Given the description of an element on the screen output the (x, y) to click on. 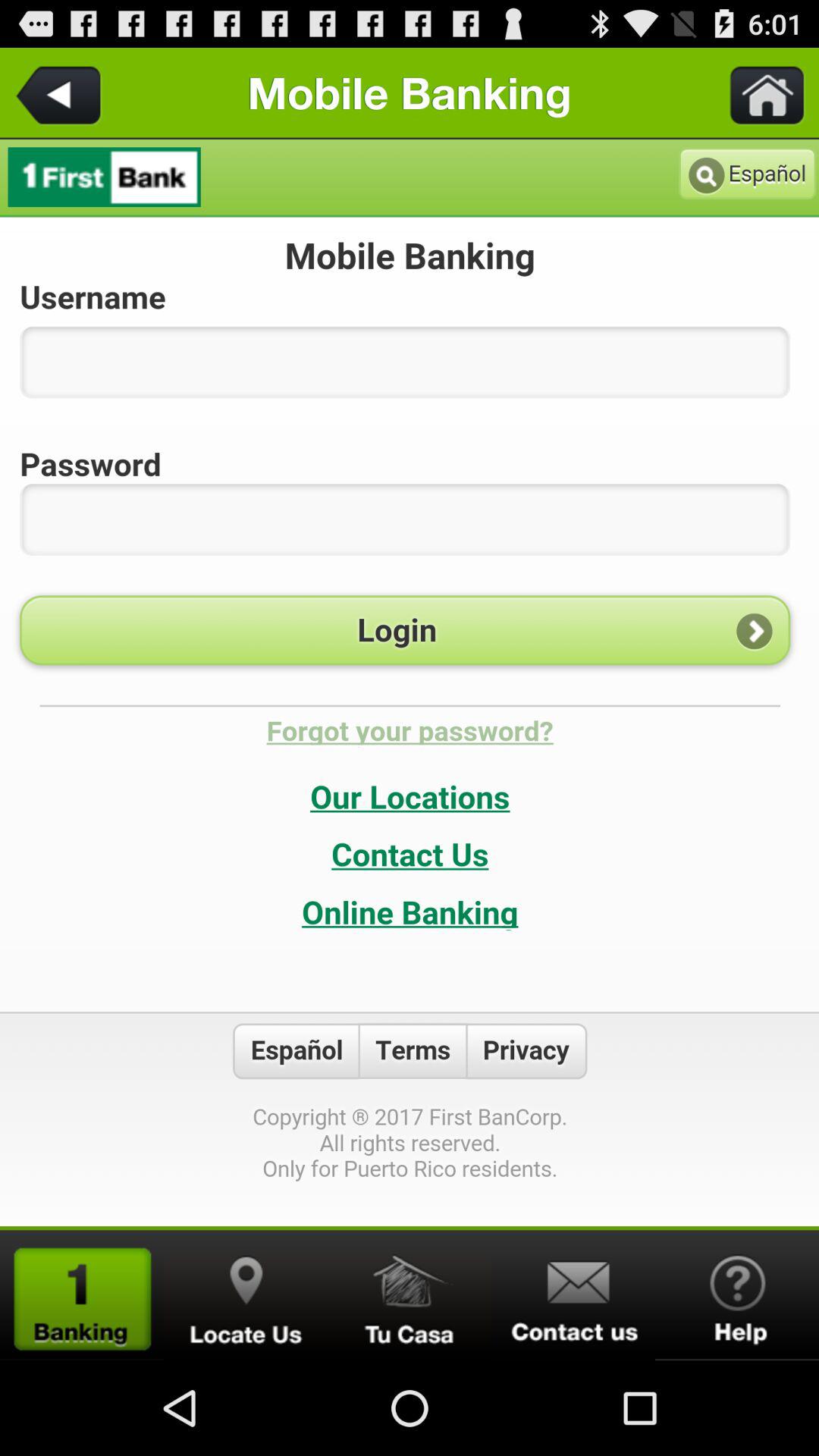
go to home (757, 92)
